Given the description of an element on the screen output the (x, y) to click on. 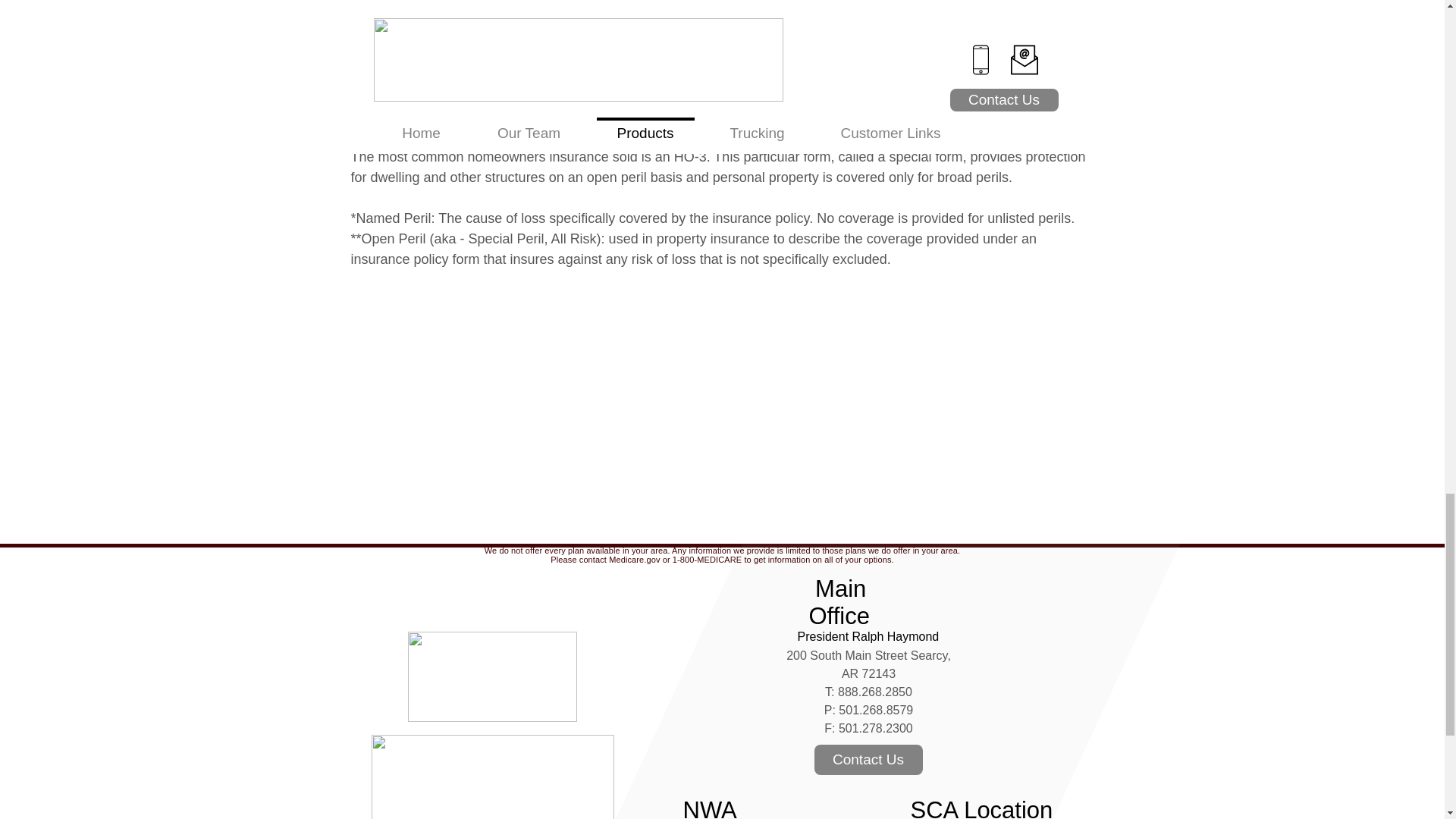
     Q: How much homeowners insurance do I need? (507, 463)
     Q: Can your homeowners insurance be canceled? (511, 443)
nsurance in my mortgage payment? (665, 422)
     Q: Where can I get homeowners insurance? (493, 484)
